Given the description of an element on the screen output the (x, y) to click on. 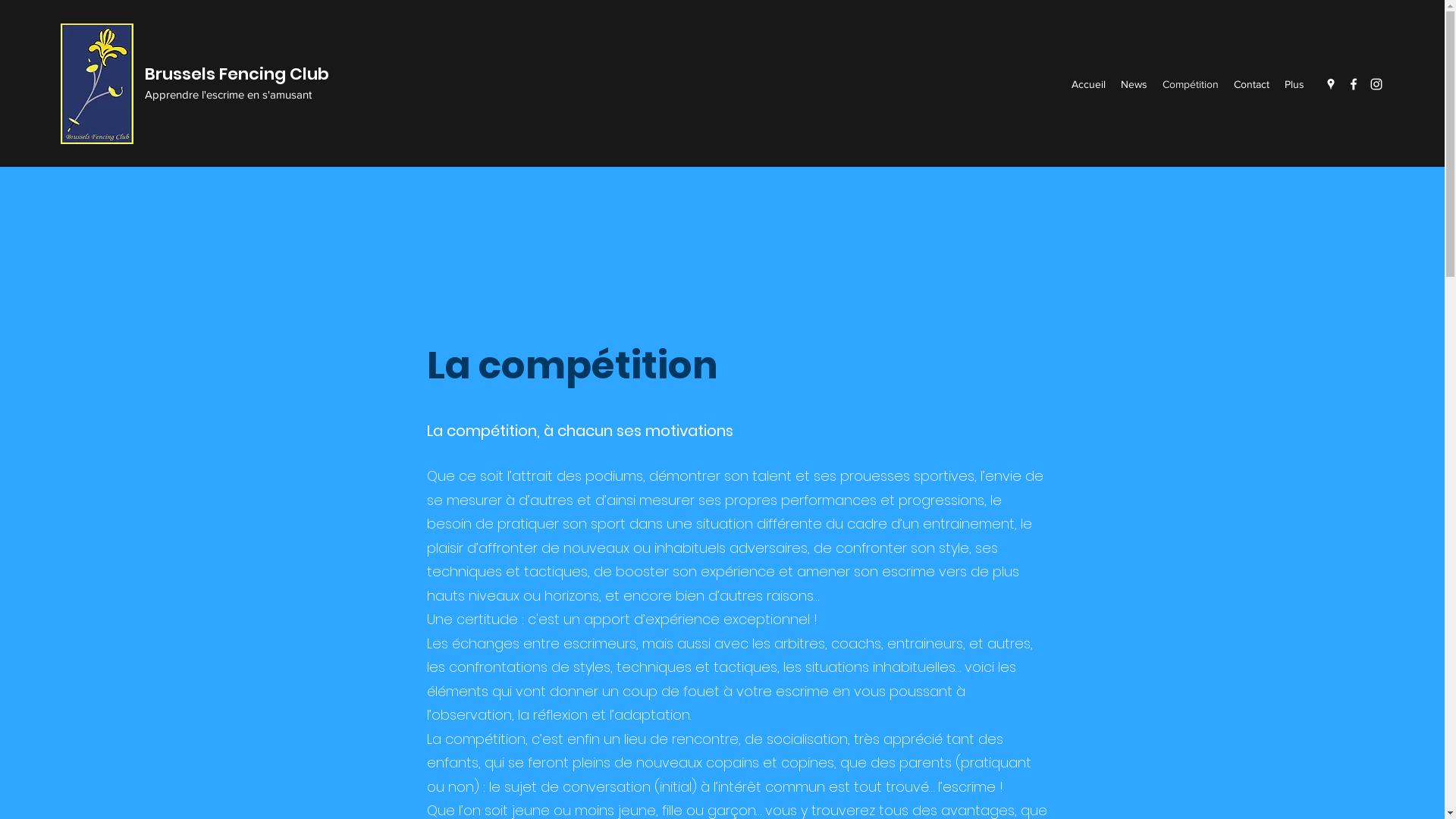
Accueil Element type: text (1088, 83)
Brussels Fencing Club Element type: text (236, 73)
News Element type: text (1133, 83)
Contact Element type: text (1251, 83)
